Given the description of an element on the screen output the (x, y) to click on. 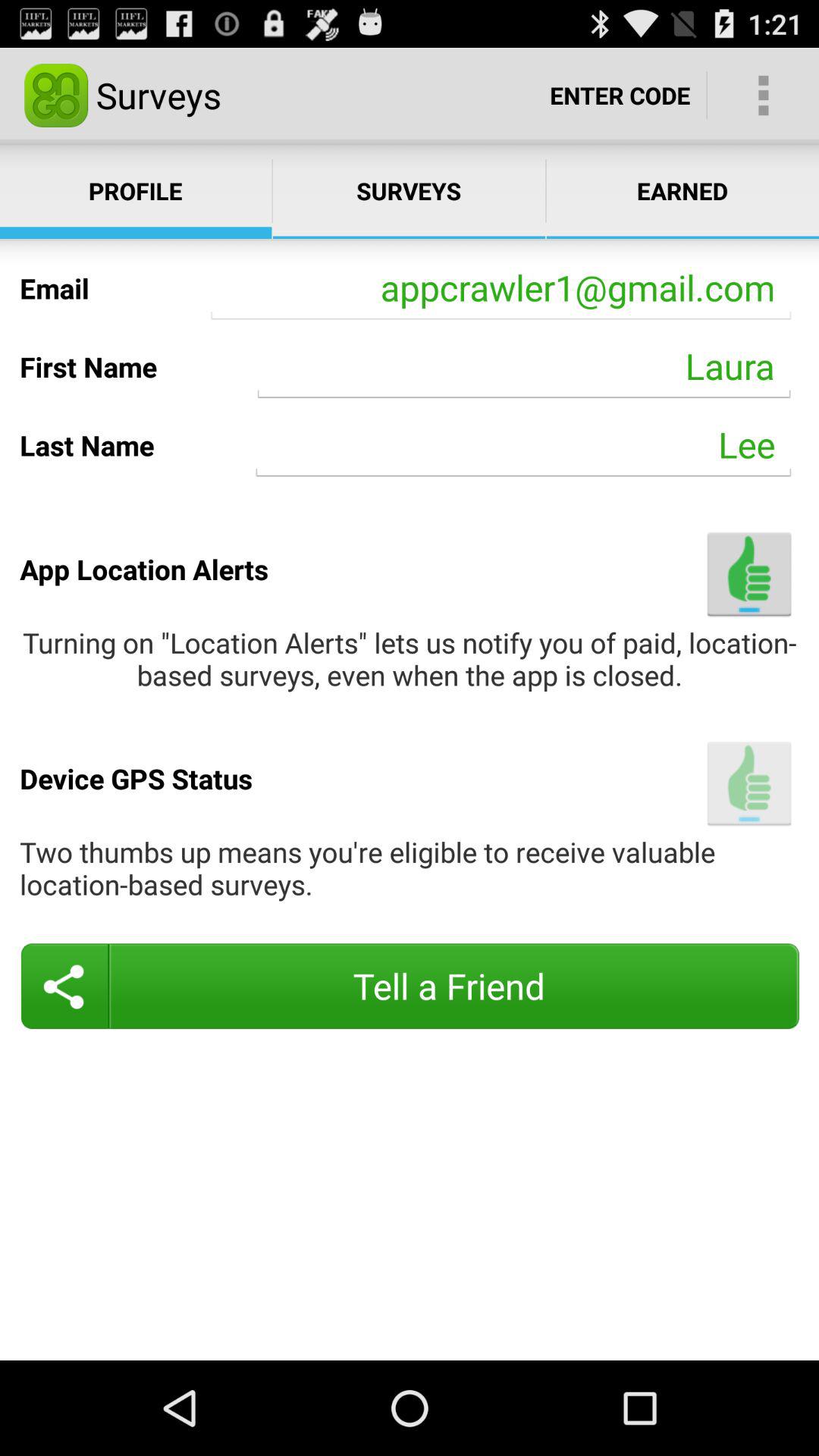
choose the icon to the right of email item (501, 288)
